Given the description of an element on the screen output the (x, y) to click on. 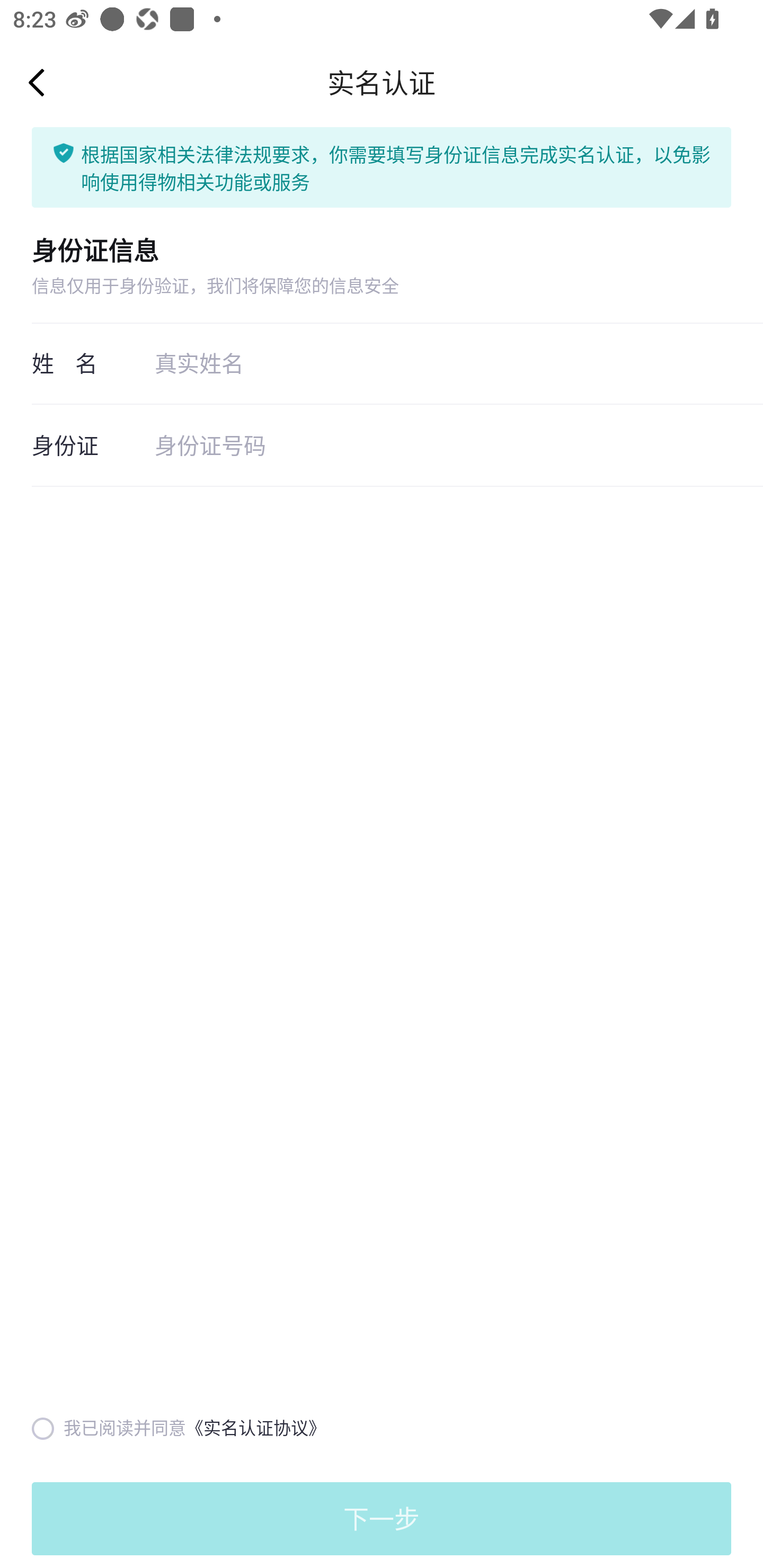
Navigate up (36, 82)
真实姓名 (442, 362)
身份证号码 (442, 444)
下一步 (381, 1518)
